Given the description of an element on the screen output the (x, y) to click on. 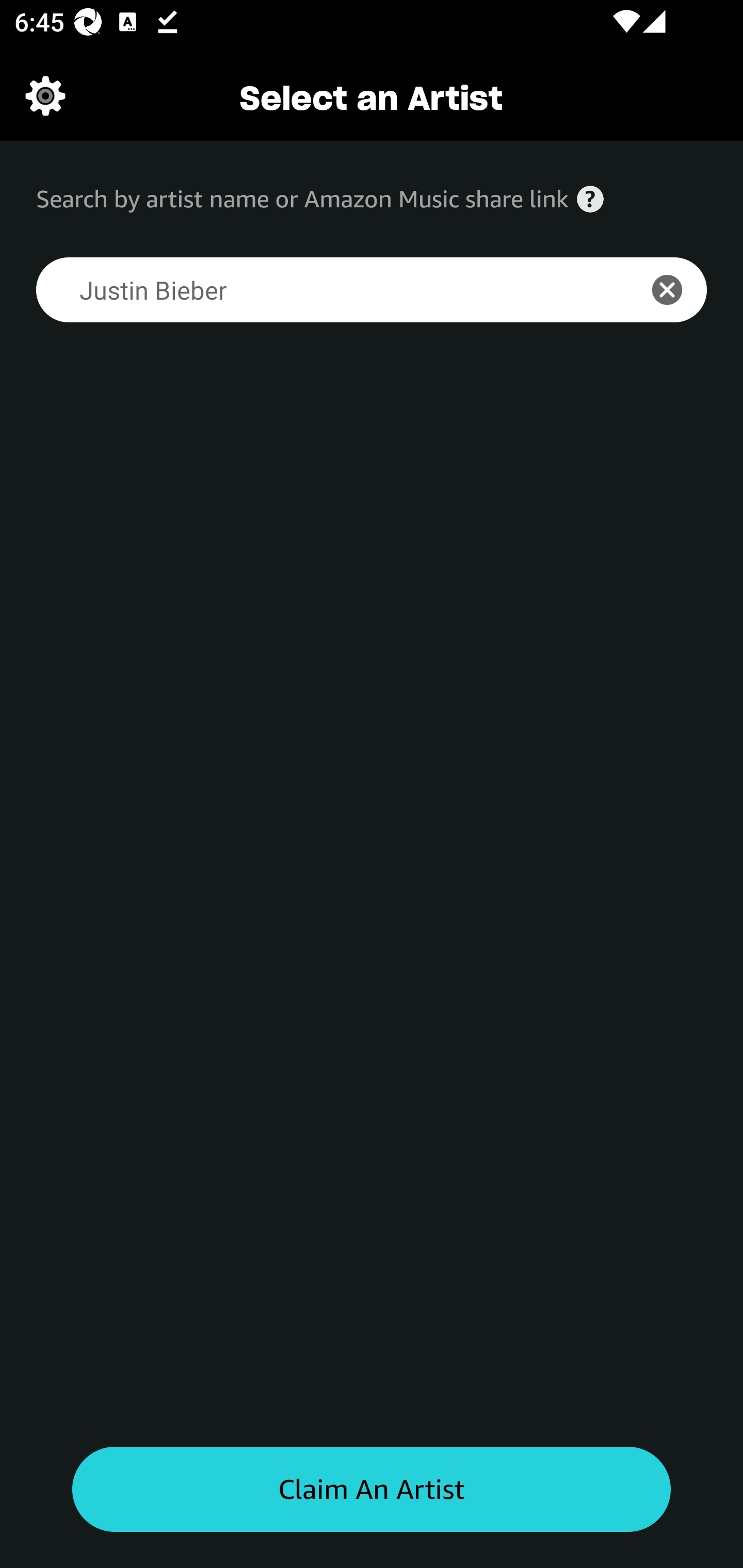
Help  icon (589, 199)
Justin Bieber Search for an artist search bar (324, 290)
 icon (677, 290)
Claim an artist button Claim An Artist (371, 1489)
